Given the description of an element on the screen output the (x, y) to click on. 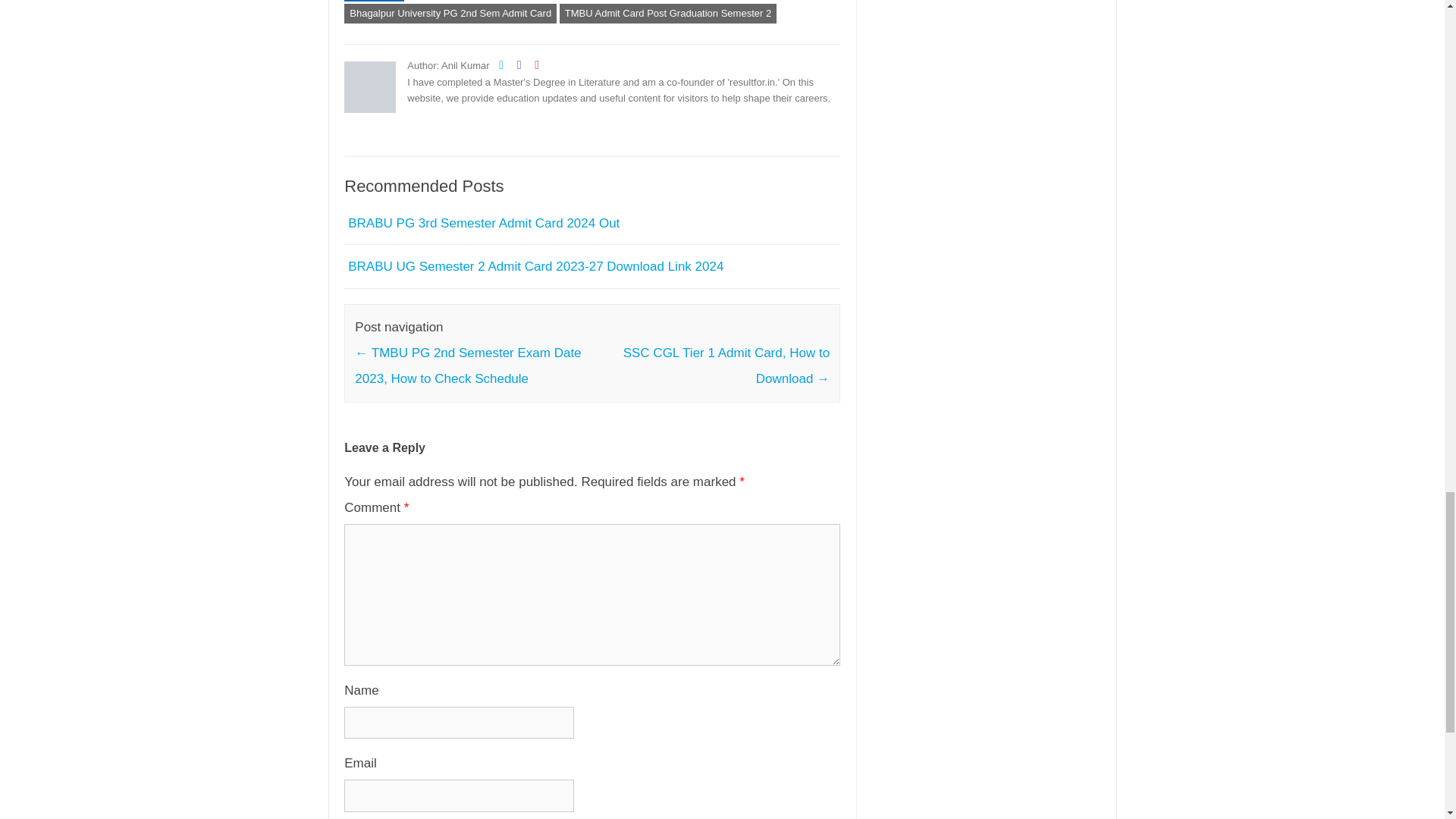
BRABU UG Semester 2 Admit Card 2023-27 Download Link 2024 (535, 266)
BRABU UG Semester 2 Admit Card 2023-27 Download Link 2024 (535, 266)
BRABU PG 3rd Semester Admit Card 2024 Out (483, 223)
Admit Card (373, 0)
Bhagalpur University PG 2nd Sem Admit Card (449, 13)
TMBU Admit Card Post Graduation Semester 2 (667, 13)
BRABU PG 3rd Semester Admit Card 2024 Out (483, 223)
